Given the description of an element on the screen output the (x, y) to click on. 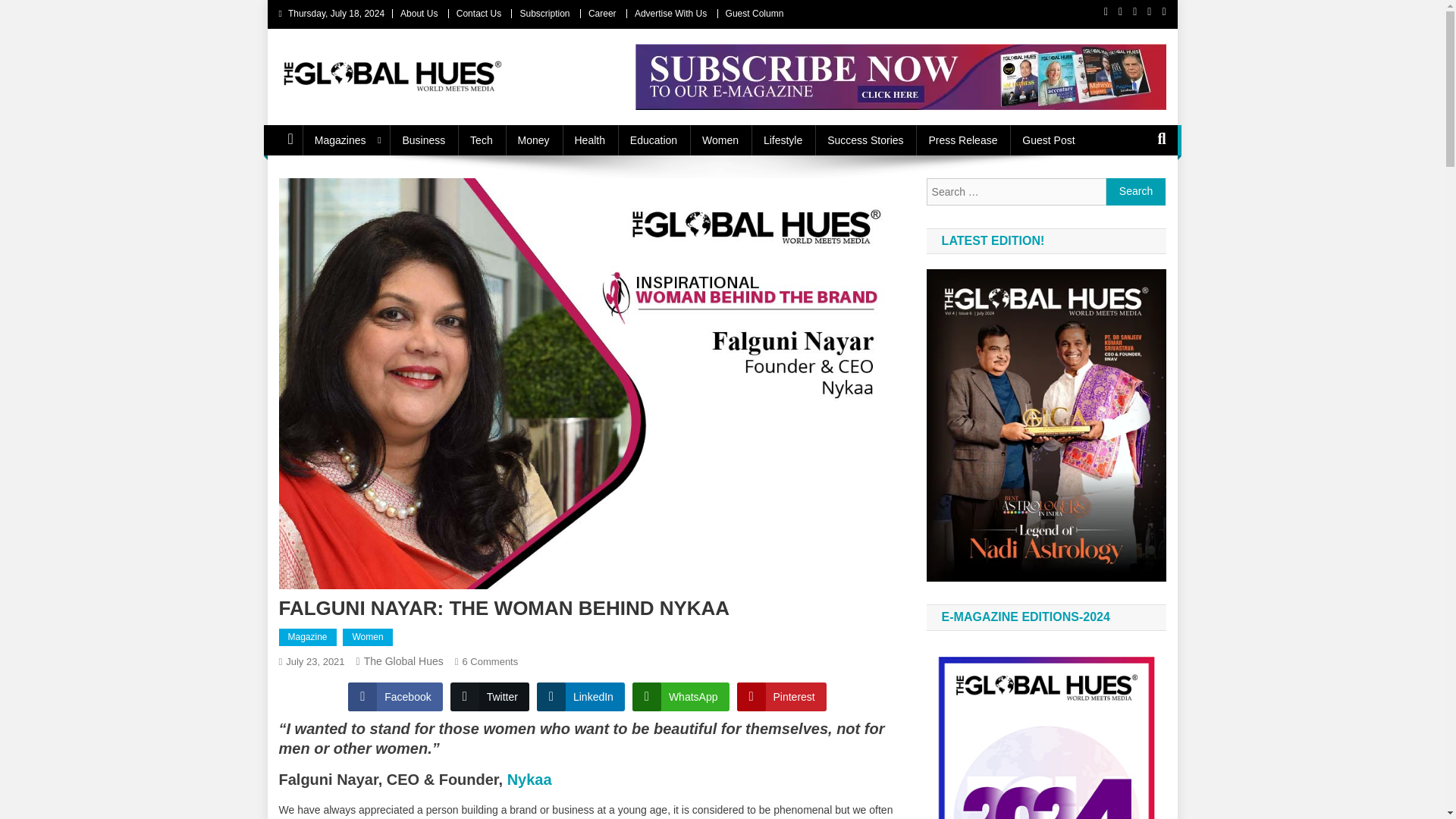
About Us (419, 13)
Guest Column (754, 13)
Search (1136, 191)
Tech (481, 140)
Guest Post (1048, 140)
Education (652, 140)
Search (1133, 190)
Magazine (307, 637)
Advertise With Us (670, 13)
Business (423, 140)
July 23, 2021 (314, 661)
Success Stories (865, 140)
Magazines (346, 140)
Subscription (544, 13)
The Global Hues (404, 661)
